Given the description of an element on the screen output the (x, y) to click on. 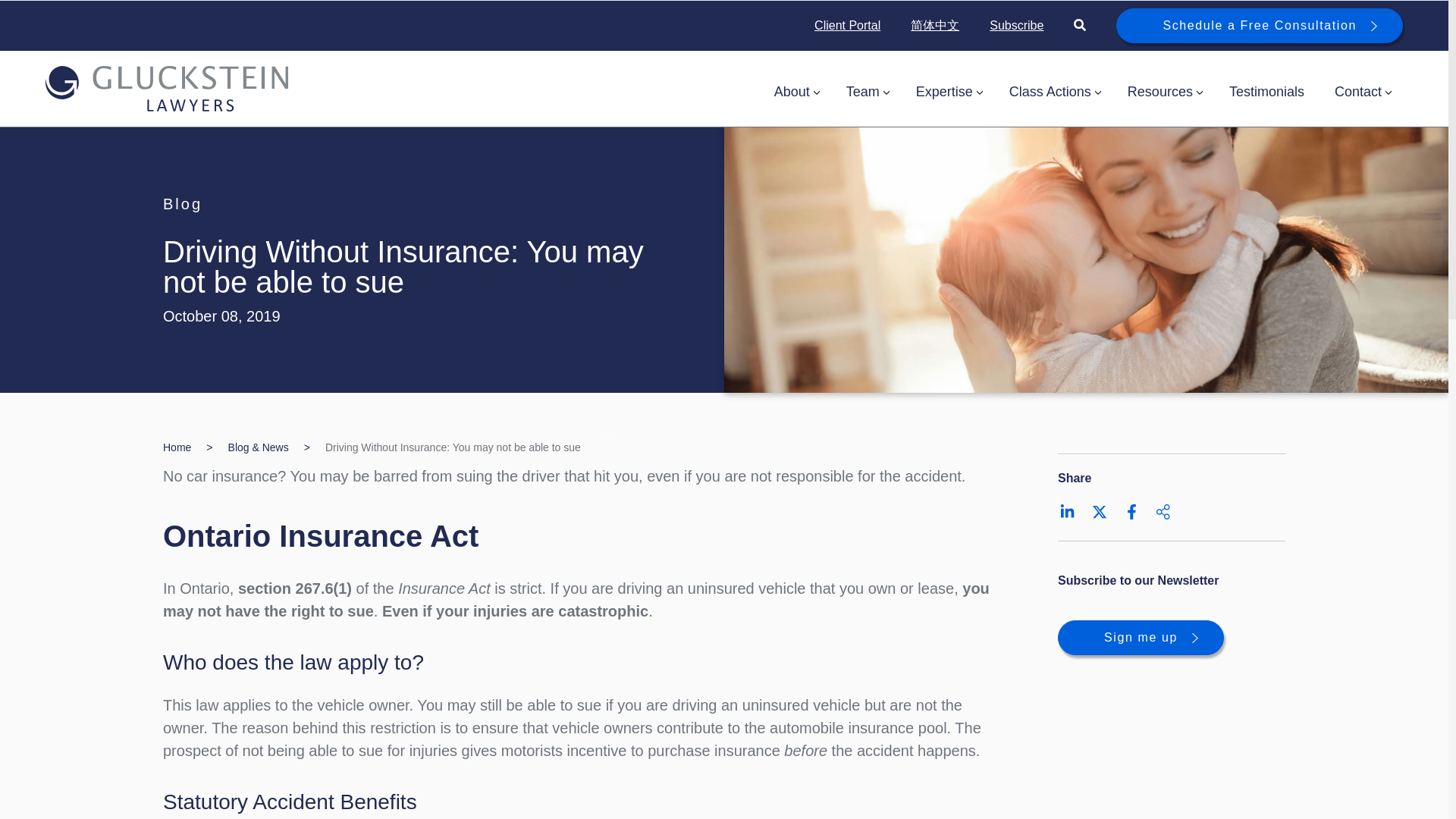
Share This (1163, 511)
Share on Twitter (1099, 511)
Share on LinkedIn (1067, 511)
Share on Facebook (1131, 511)
